Given the description of an element on the screen output the (x, y) to click on. 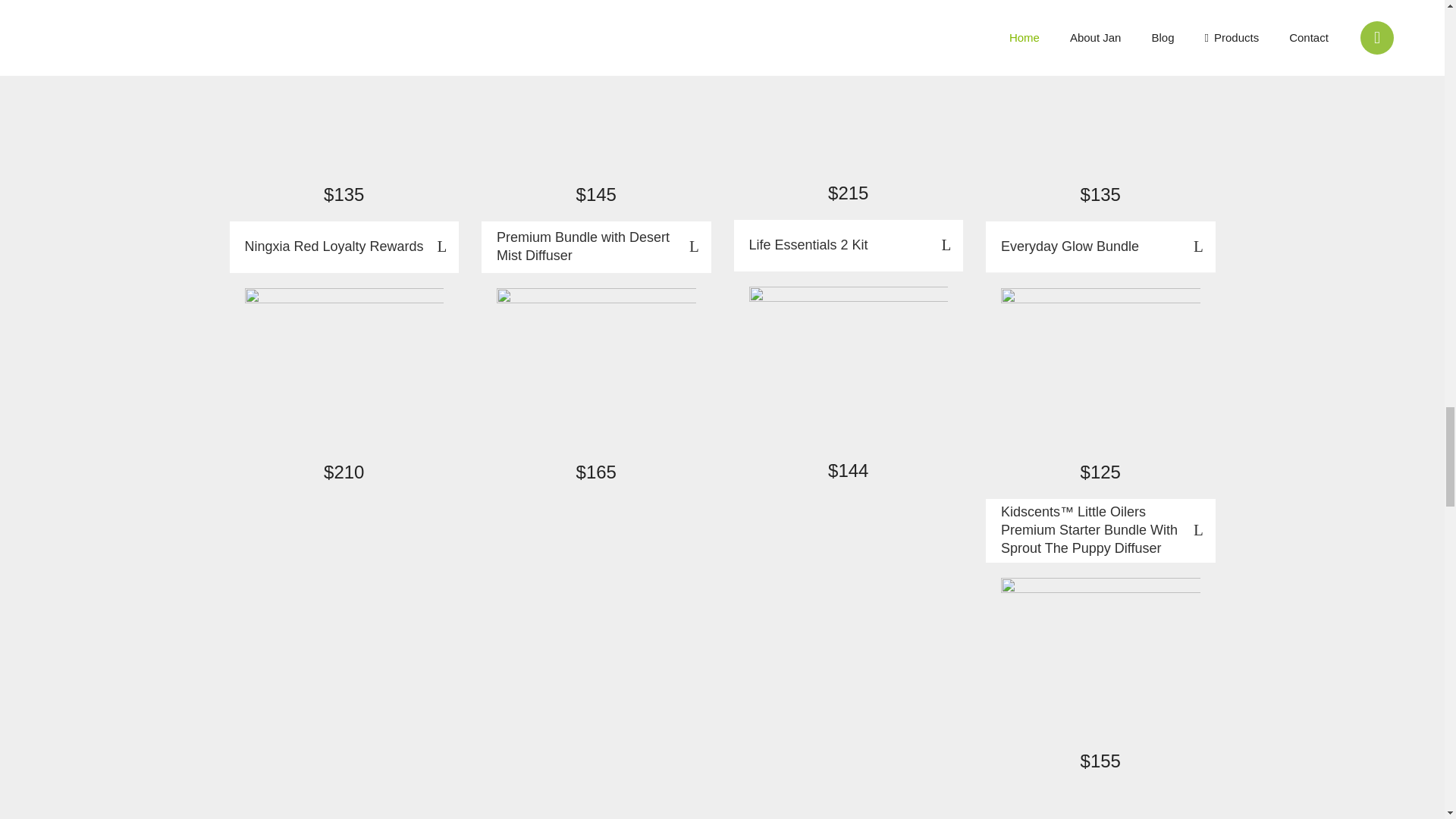
13 (344, 371)
4 (595, 93)
7 (849, 369)
2 (1100, 93)
3 (1100, 371)
10 (595, 371)
12 (344, 93)
6 (849, 92)
